Given the description of an element on the screen output the (x, y) to click on. 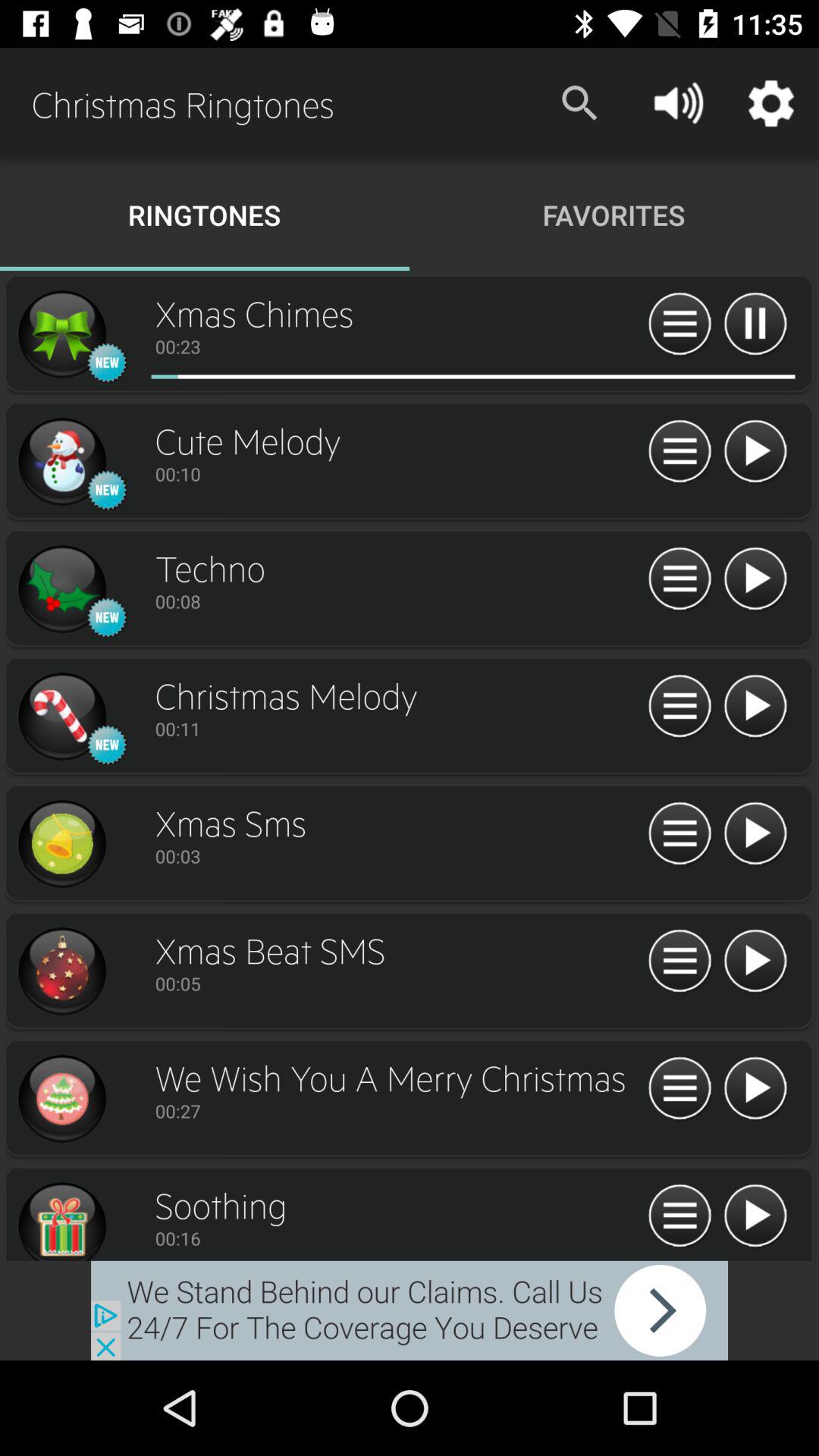
play xmas beat sms ringtone (755, 961)
